Given the description of an element on the screen output the (x, y) to click on. 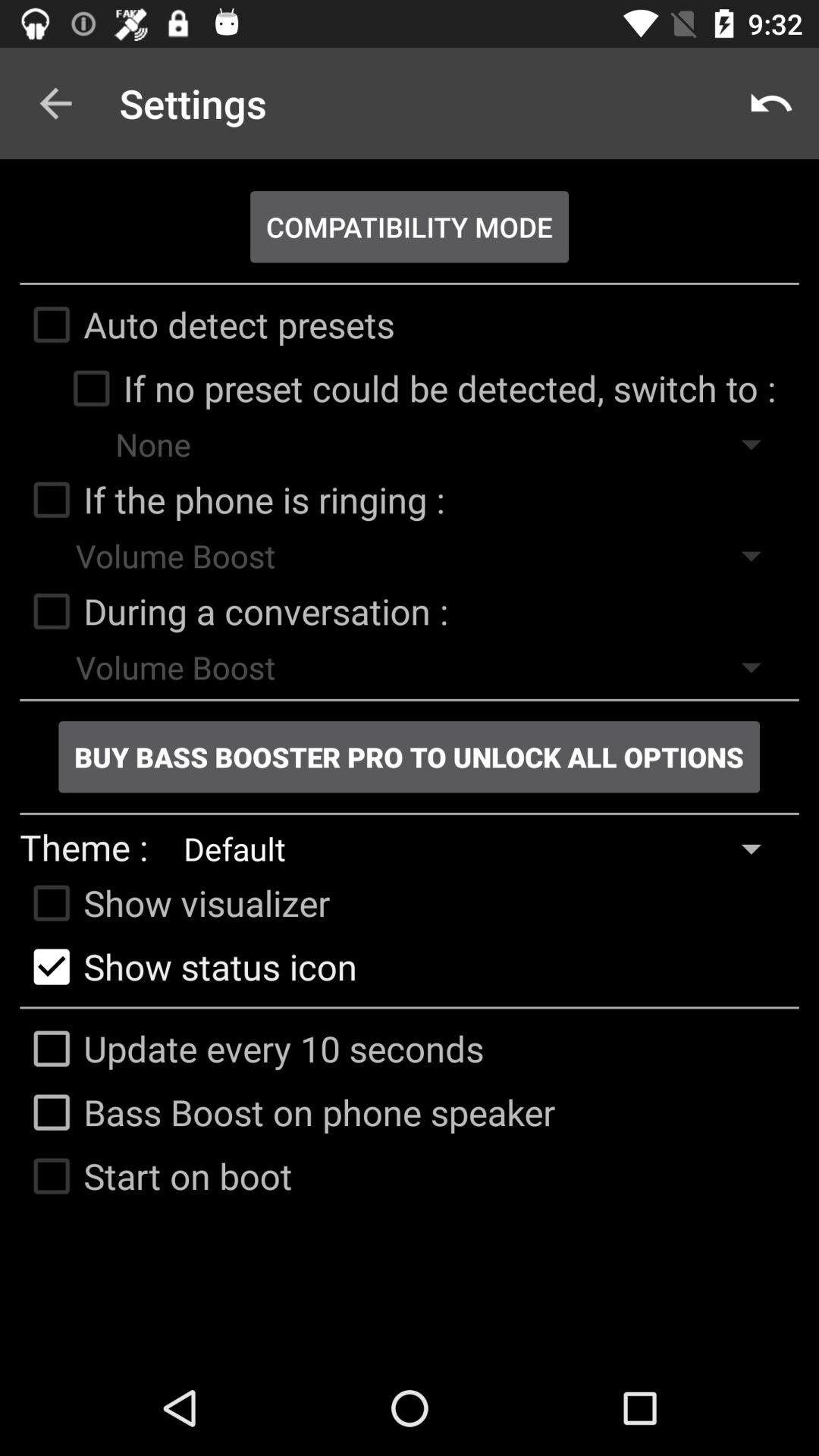
launch the app to the right of settings icon (771, 103)
